Given the description of an element on the screen output the (x, y) to click on. 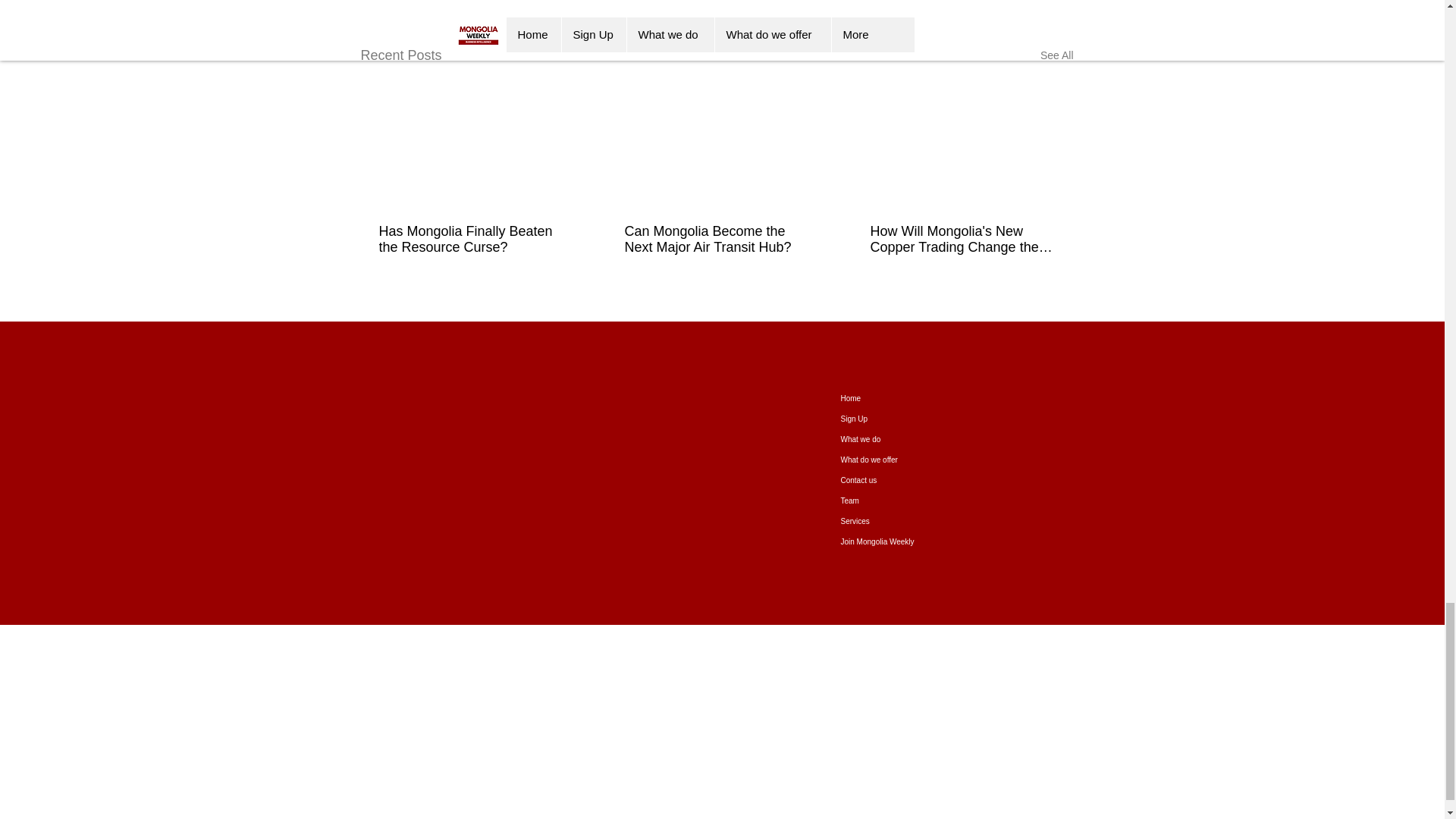
Home (898, 398)
What do we offer (898, 459)
Can Mongolia Become the Next Major Air Transit Hub? (716, 239)
See All (1057, 55)
Has Mongolia Finally Beaten the Resource Curse? (470, 239)
Services (898, 521)
Team (898, 500)
What we do (898, 439)
Contact us (898, 480)
Sign Up (898, 418)
